Given the description of an element on the screen output the (x, y) to click on. 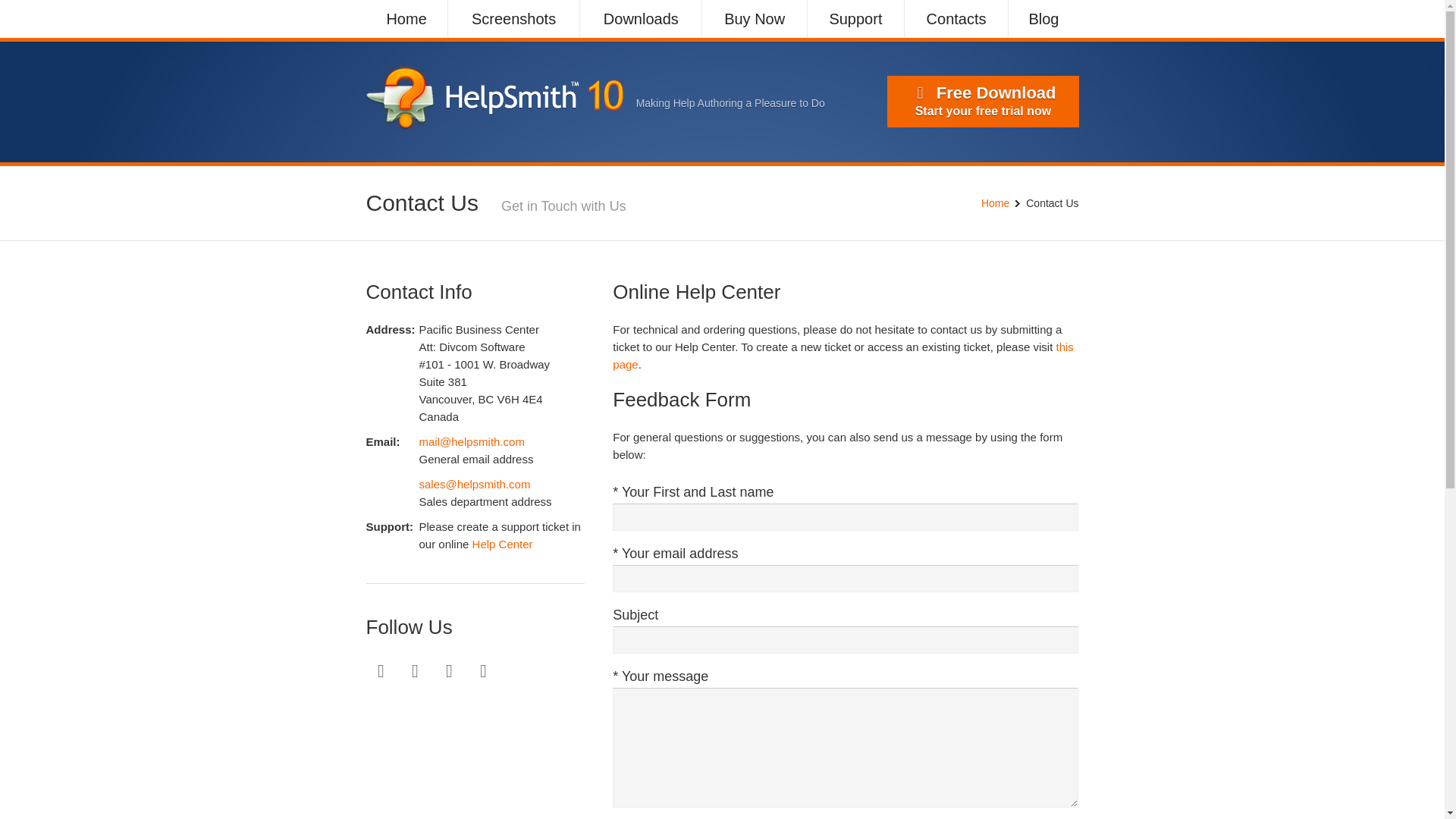
Downloads (640, 18)
Support (855, 18)
Buy Now (753, 18)
Blog (1042, 18)
Home (405, 18)
Contacts (956, 18)
this page (843, 355)
Screenshots (512, 18)
Home (995, 203)
Help Center (501, 543)
